Given the description of an element on the screen output the (x, y) to click on. 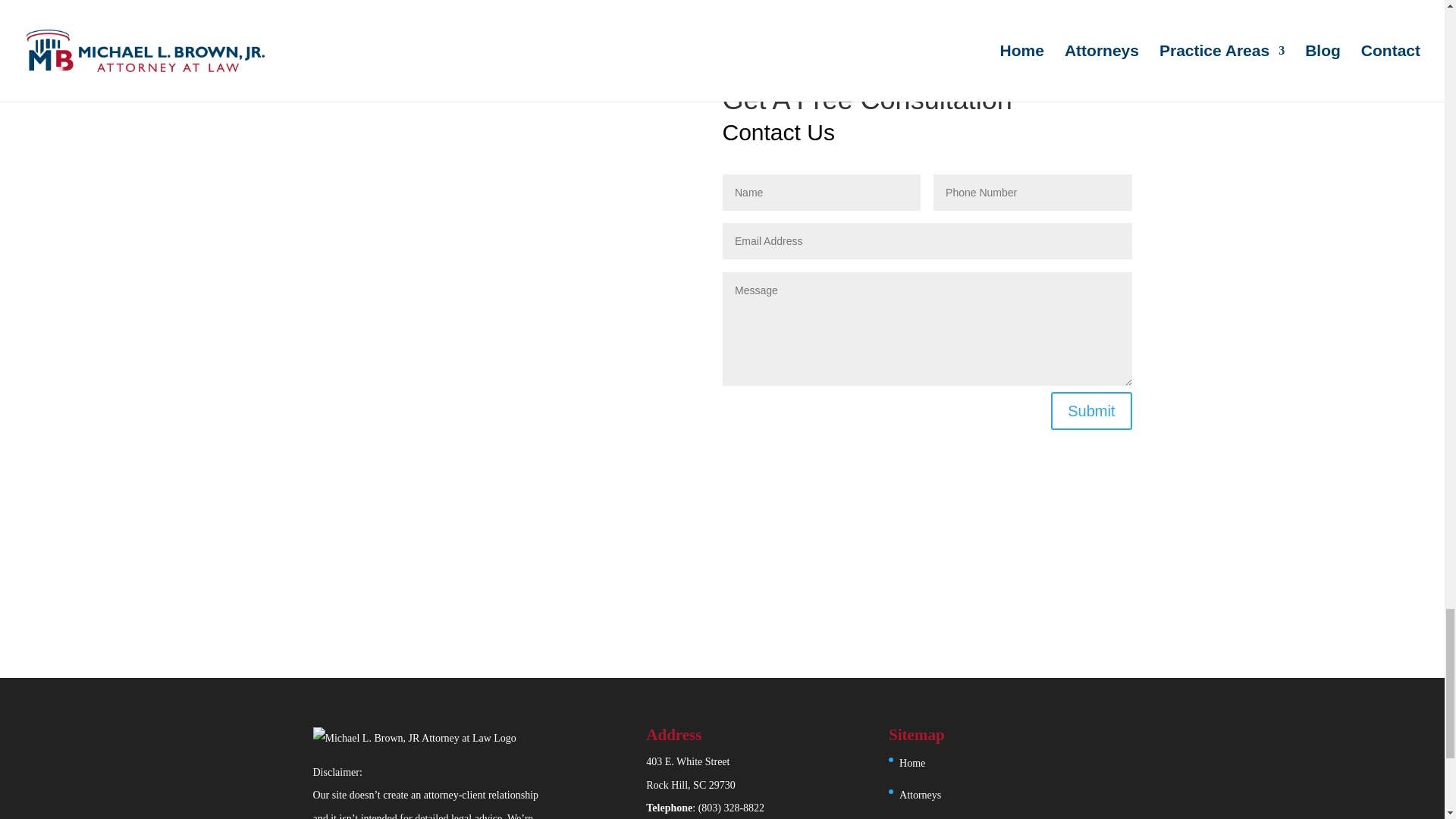
Submit (1091, 410)
Home (911, 763)
Attorneys (690, 773)
